Given the description of an element on the screen output the (x, y) to click on. 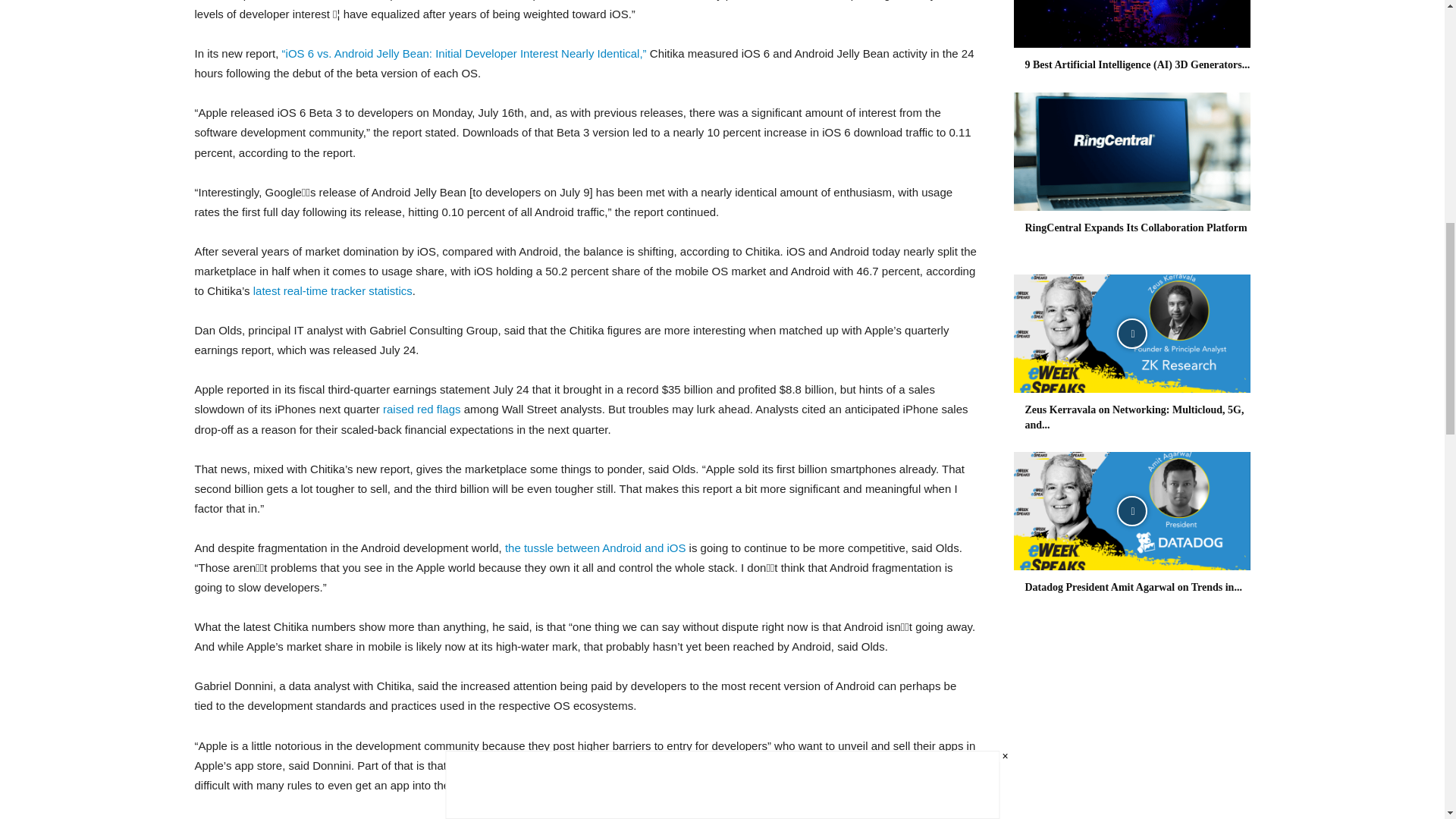
Zeus Kerravala on Networking: Multicloud, 5G, and Automation (1134, 417)
Zeus Kerravala on Networking: Multicloud, 5G, and Automation (1131, 333)
RingCentral Expands Its Collaboration Platform (1131, 151)
RingCentral Expands Its Collaboration Platform (1136, 227)
